Given the description of an element on the screen output the (x, y) to click on. 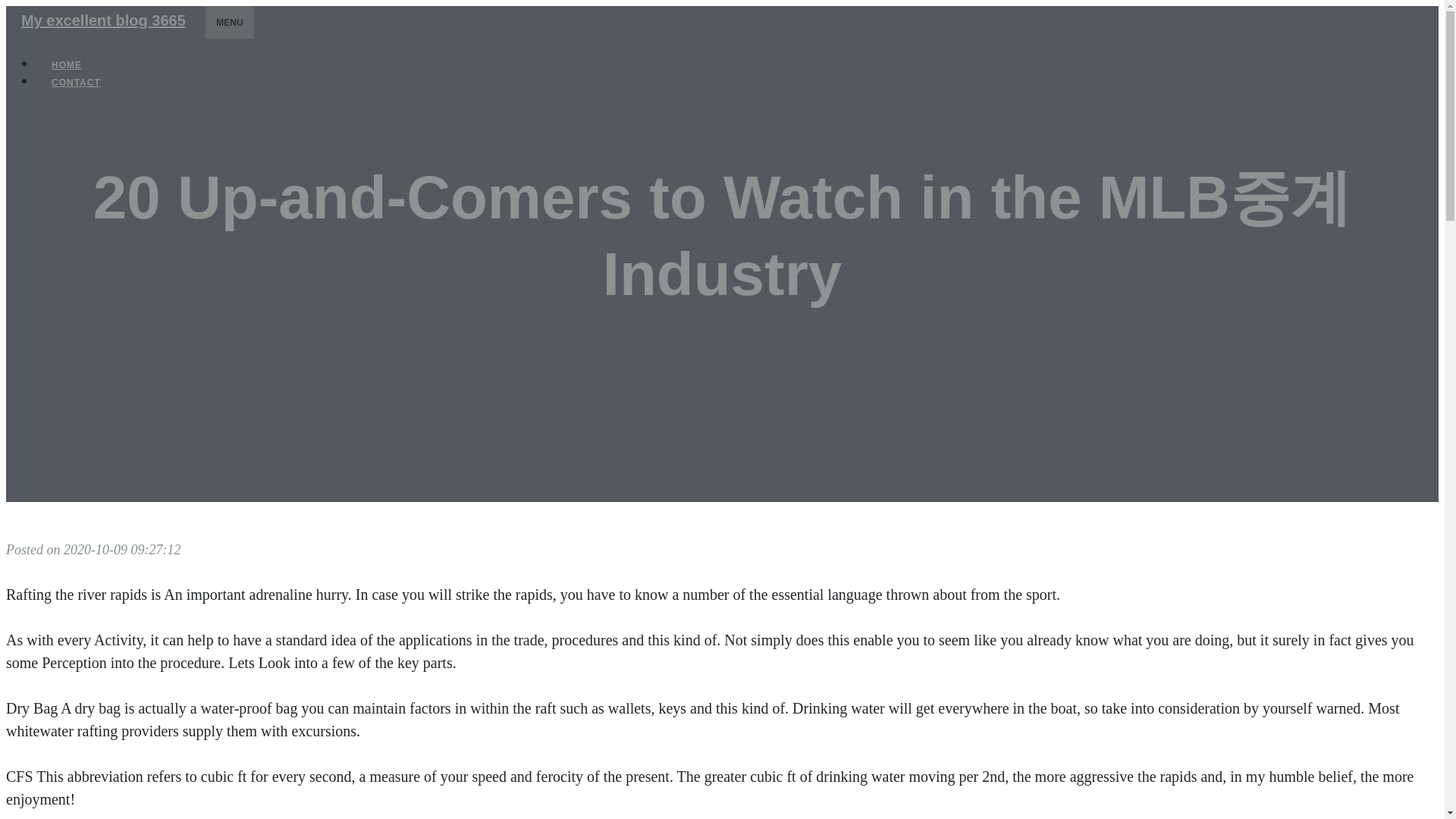
HOME (66, 64)
My excellent blog 3665 (102, 20)
CONTACT (76, 82)
MENU (229, 22)
